Given the description of an element on the screen output the (x, y) to click on. 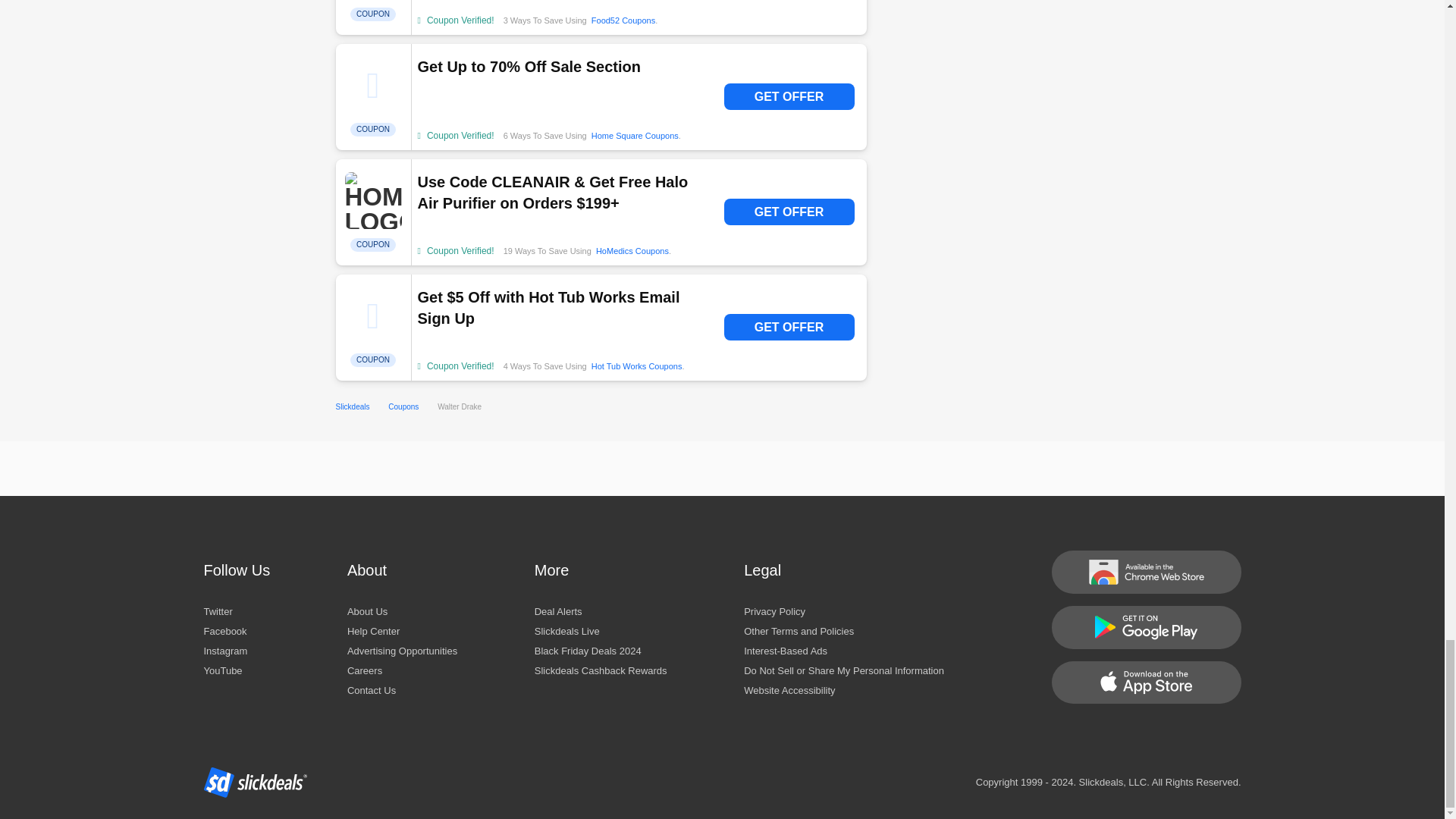
Install the Slickdeals Android App (1145, 626)
Install the Slickdeals Extension (1145, 571)
Install the Slickdeals iOS App (1145, 681)
